Given the description of an element on the screen output the (x, y) to click on. 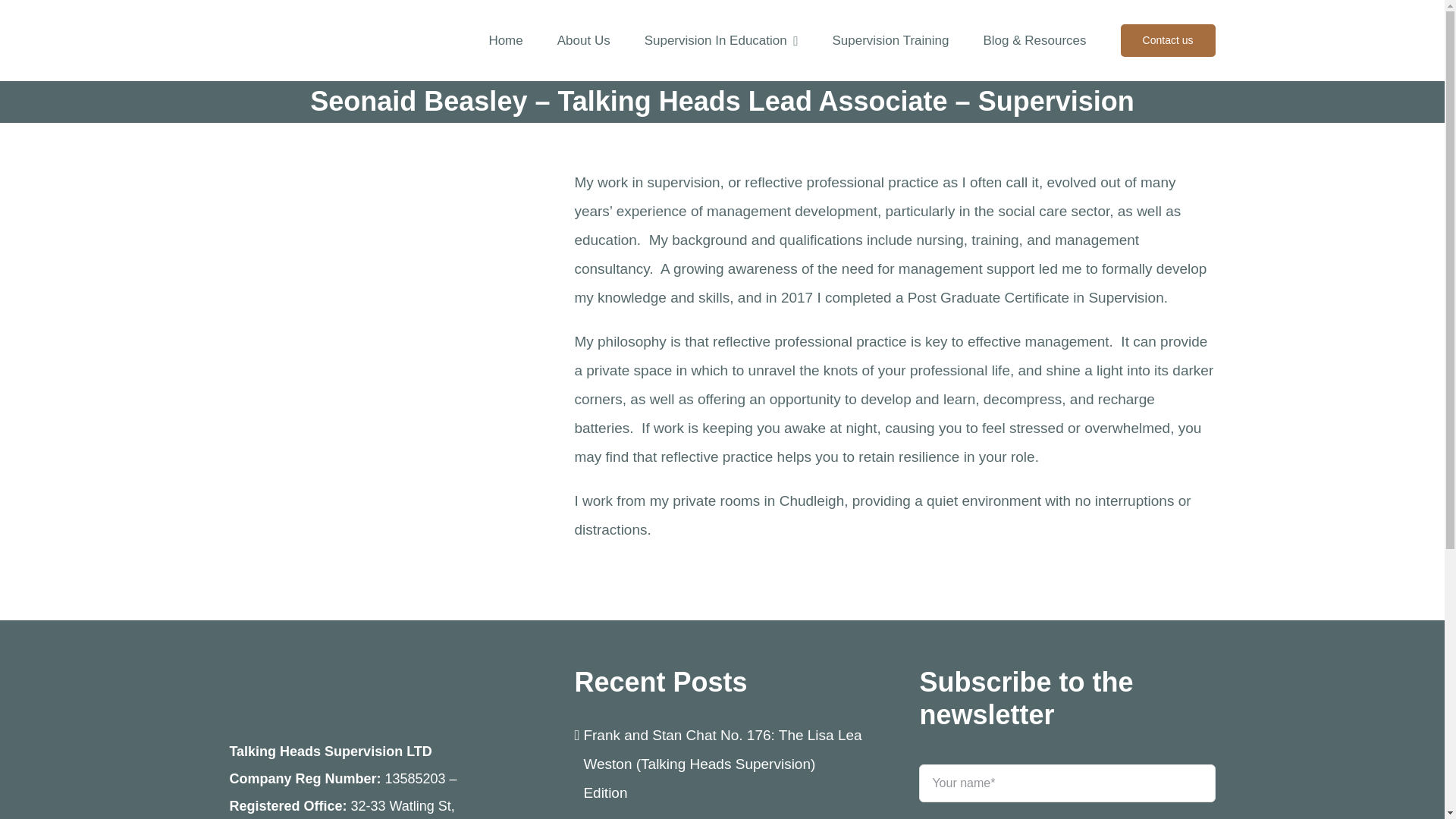
SB-Photo-e1521456479795 (376, 317)
Supervision Training (890, 40)
Supervision In Education (721, 40)
Contact us (1168, 40)
Submit (1066, 784)
